Given the description of an element on the screen output the (x, y) to click on. 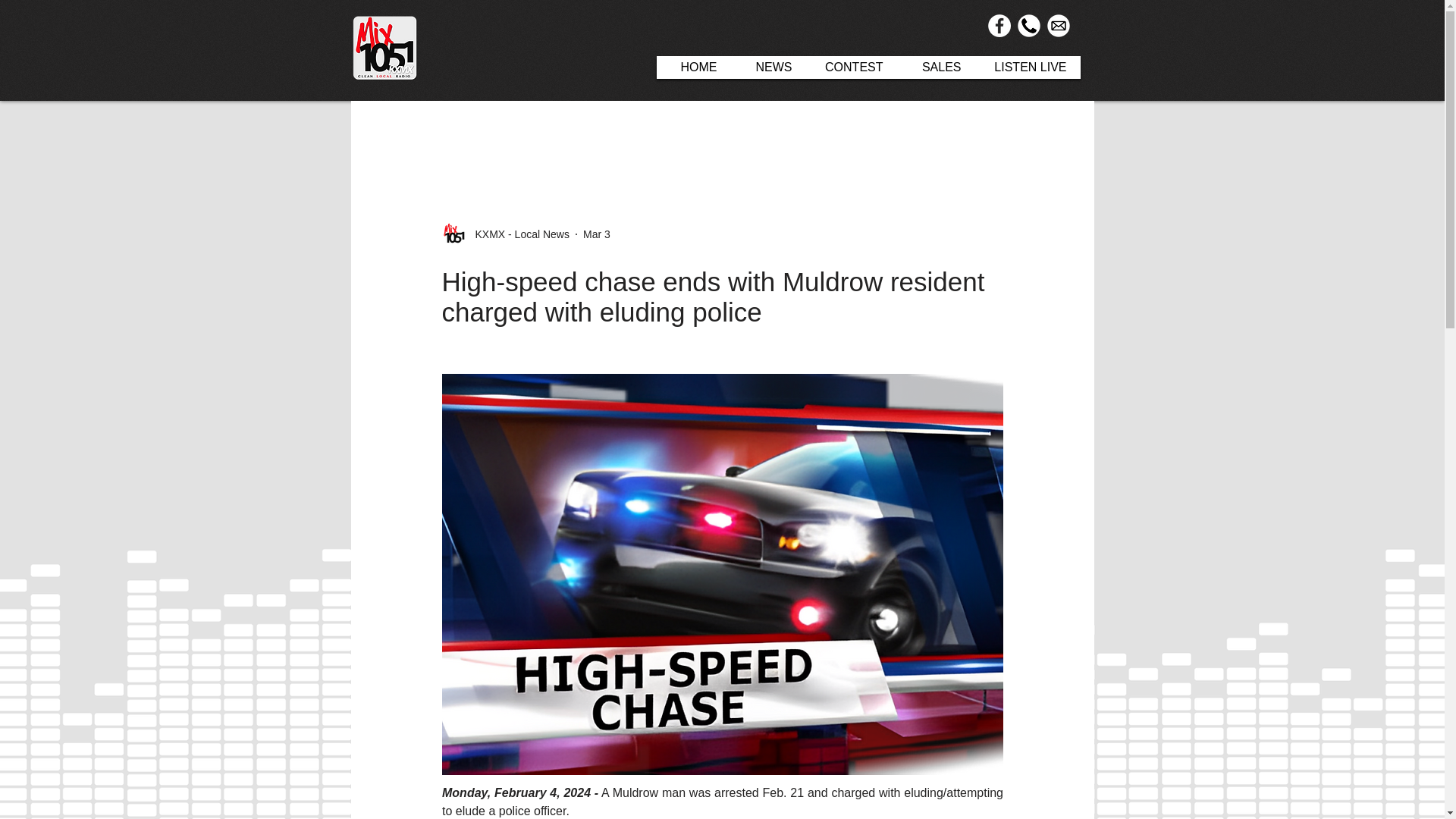
CONTEST (850, 67)
KXMX - Local News (517, 233)
Mar 3 (596, 233)
SALES (935, 67)
NEWS (768, 67)
KXMX - Local News (505, 233)
LISTEN LIVE (1027, 67)
HOME (693, 67)
